Given the description of an element on the screen output the (x, y) to click on. 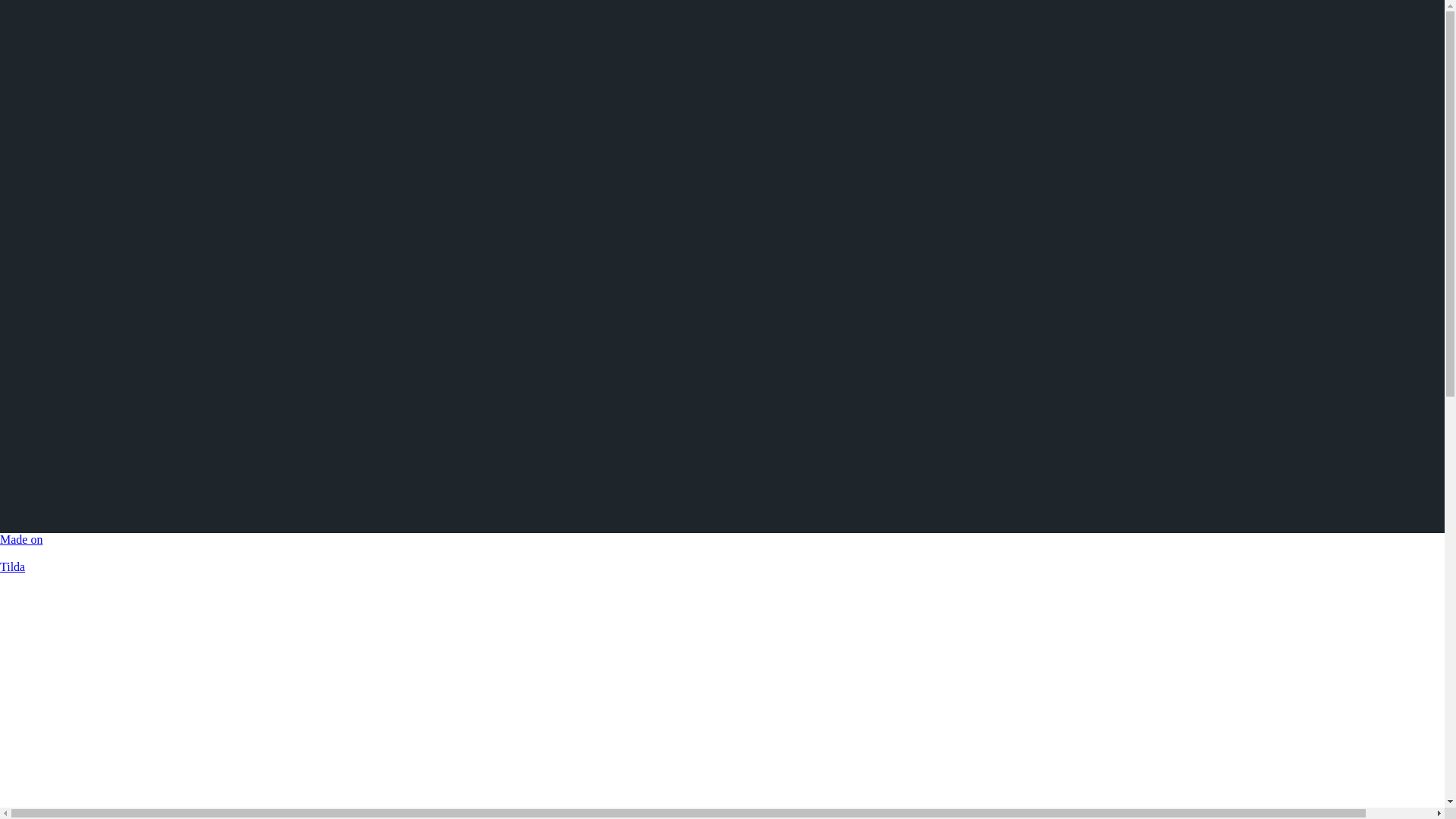
__replain_widget_iframe Element type: hover (1402, 765)
Made on
Tilda Element type: text (722, 553)
